Given the description of an element on the screen output the (x, y) to click on. 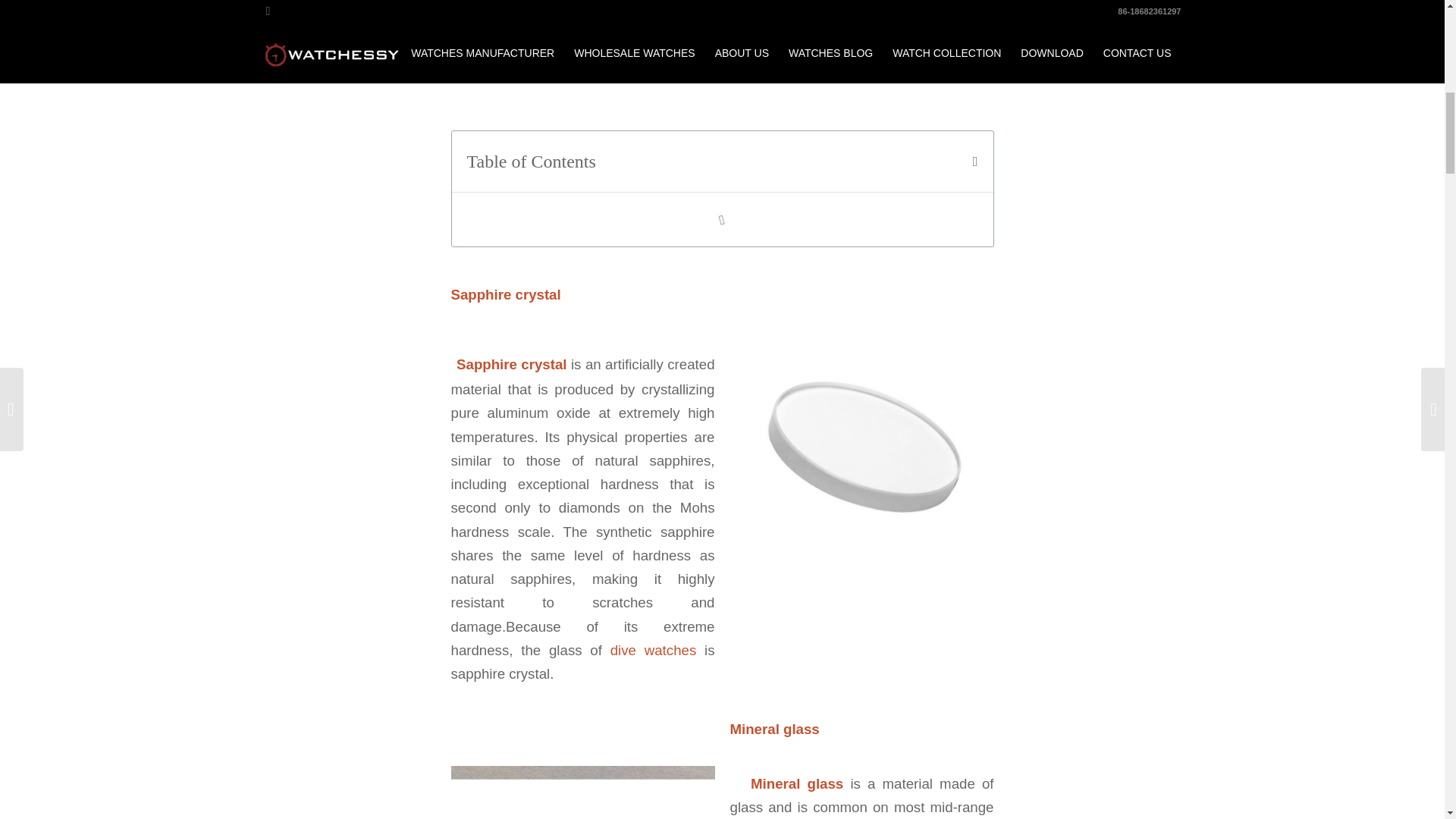
Automatic watch diver what is mineral glas (581, 792)
Automatic watch diver Sapphire crystal 1 1 (860, 447)
Automatic watch diver mineral vs sapphire crystal (720, 57)
